Given the description of an element on the screen output the (x, y) to click on. 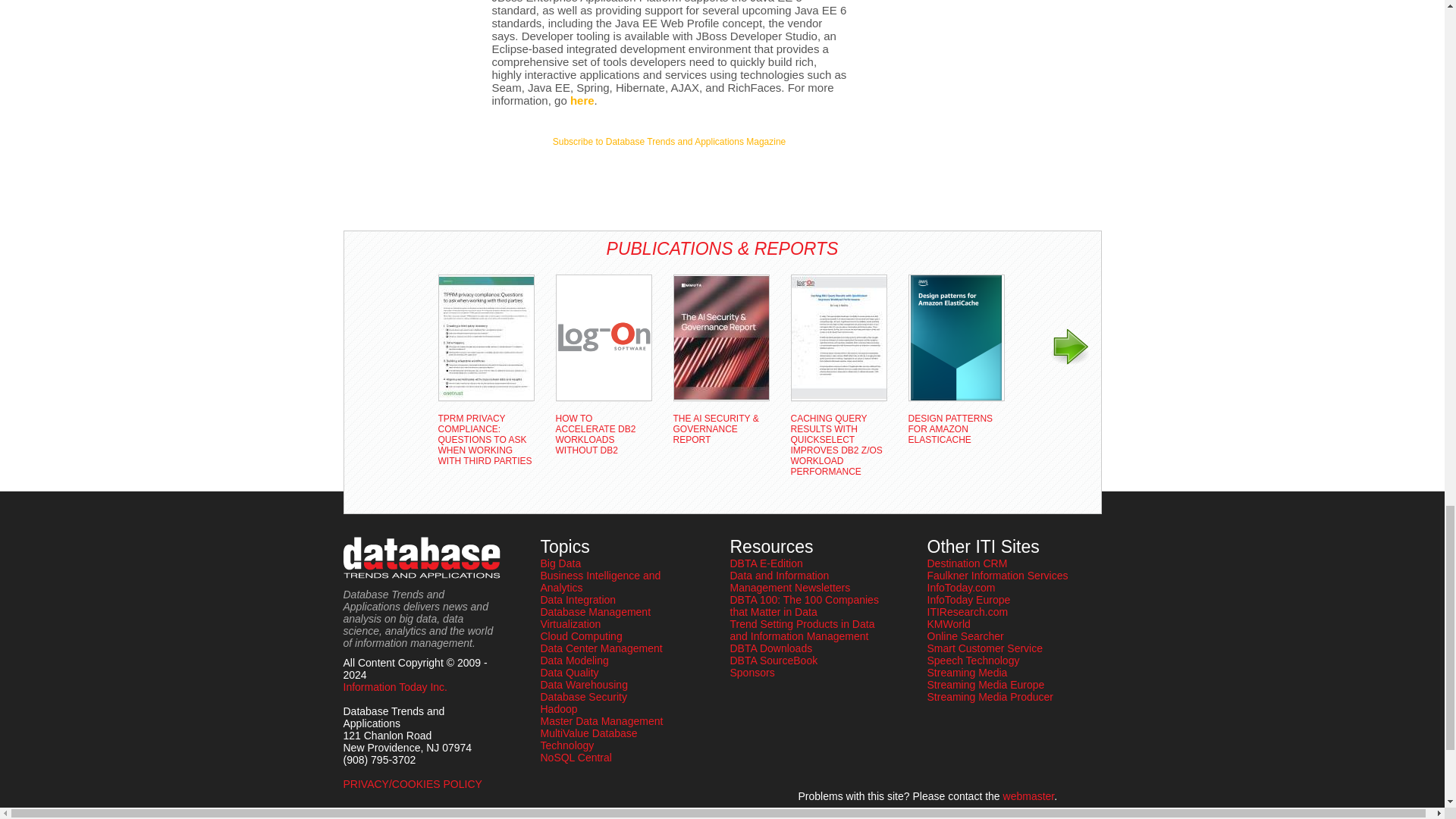
3rd party ad content (668, 176)
3rd party ad content (403, 46)
